Given the description of an element on the screen output the (x, y) to click on. 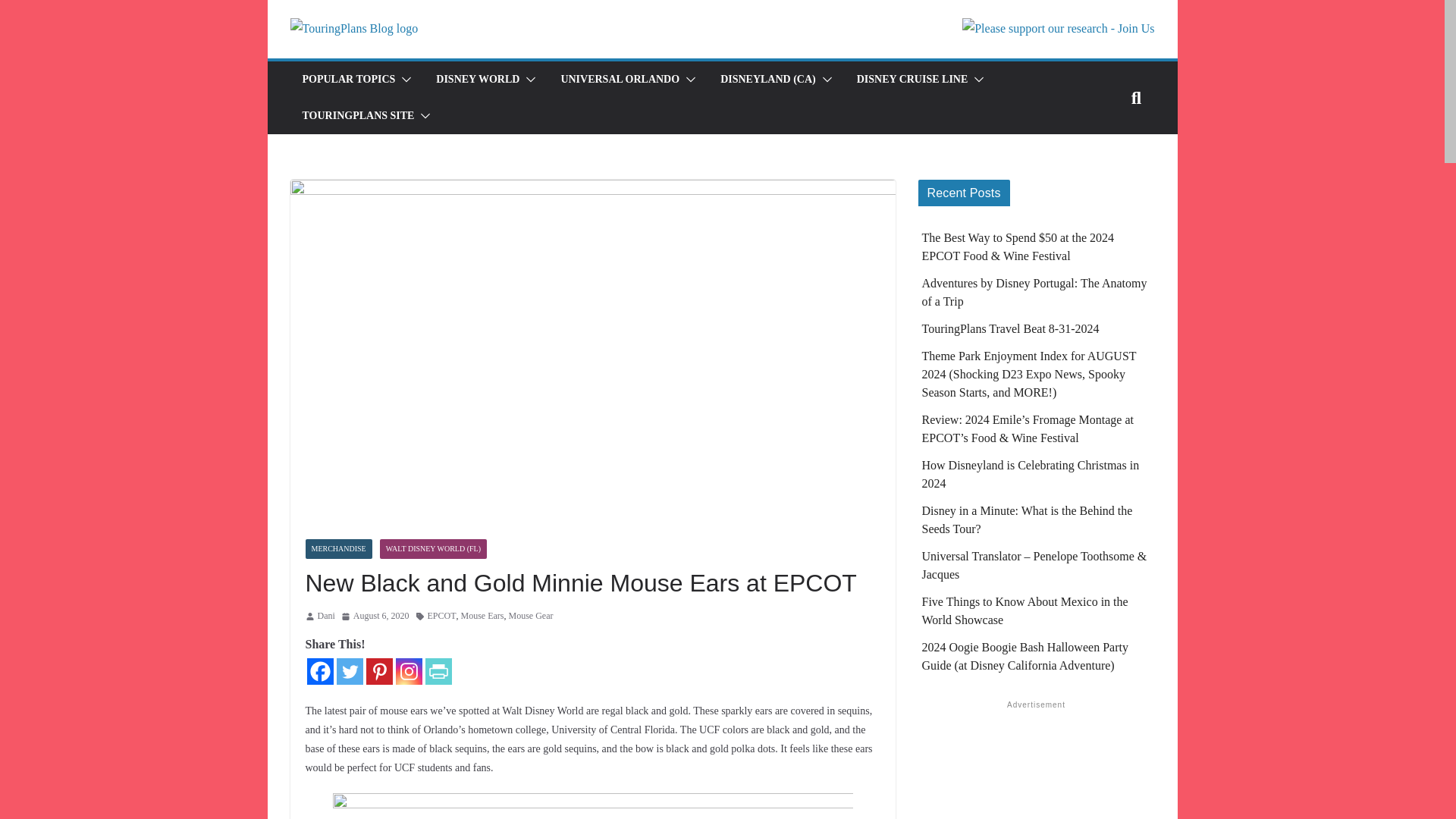
12:15 pm (374, 616)
DISNEY CRUISE LINE (912, 79)
Instagram (409, 671)
Pinterest (378, 671)
TOURINGPLANS SITE (357, 115)
Dani (325, 616)
UNIVERSAL ORLANDO (619, 79)
DISNEY WORLD (477, 79)
Facebook (319, 671)
Twitter (349, 671)
